Given the description of an element on the screen output the (x, y) to click on. 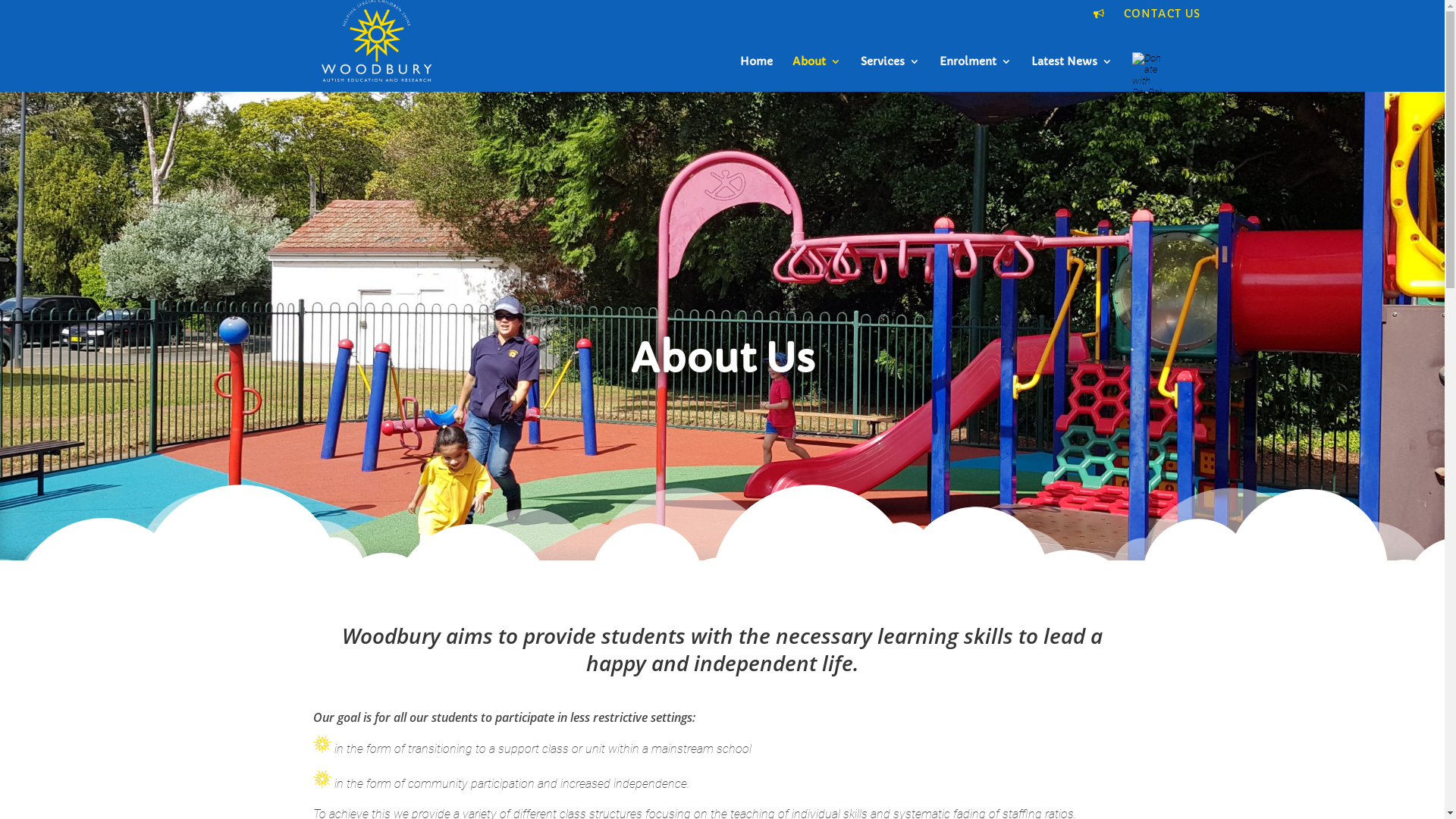
Latest News Element type: text (1071, 73)
Enrolment Element type: text (974, 73)
  Element type: text (1100, 16)
About Element type: text (815, 73)
Home Element type: text (756, 73)
CONTACT US Element type: text (1161, 16)
PayPal - The safer, easier way to pay online! Element type: hover (1146, 80)
Services Element type: text (889, 73)
